Given the description of an element on the screen output the (x, y) to click on. 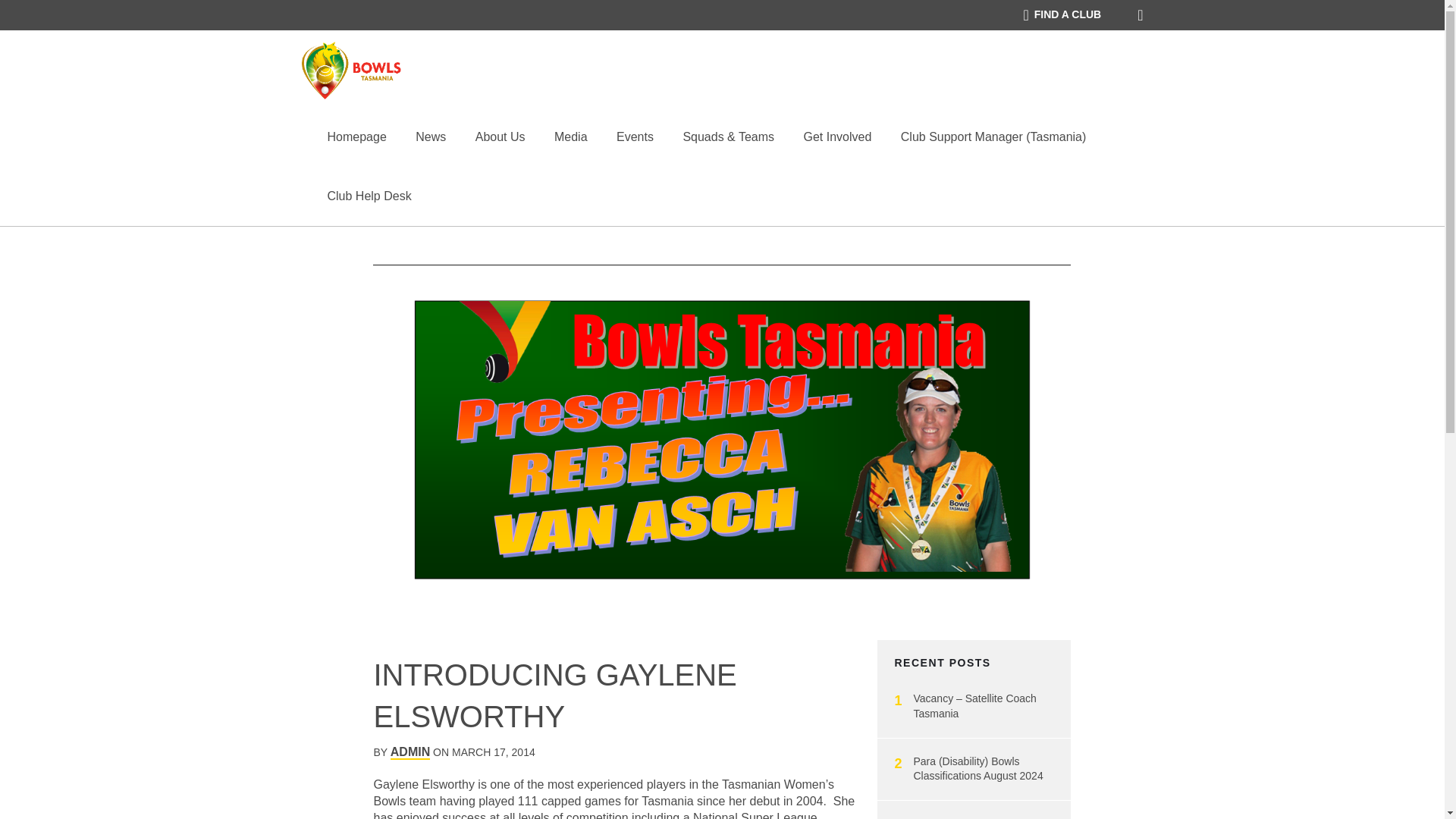
Homepage (357, 137)
Bowls Tasmania (352, 70)
FIND A CLUB (1061, 15)
